Given the description of an element on the screen output the (x, y) to click on. 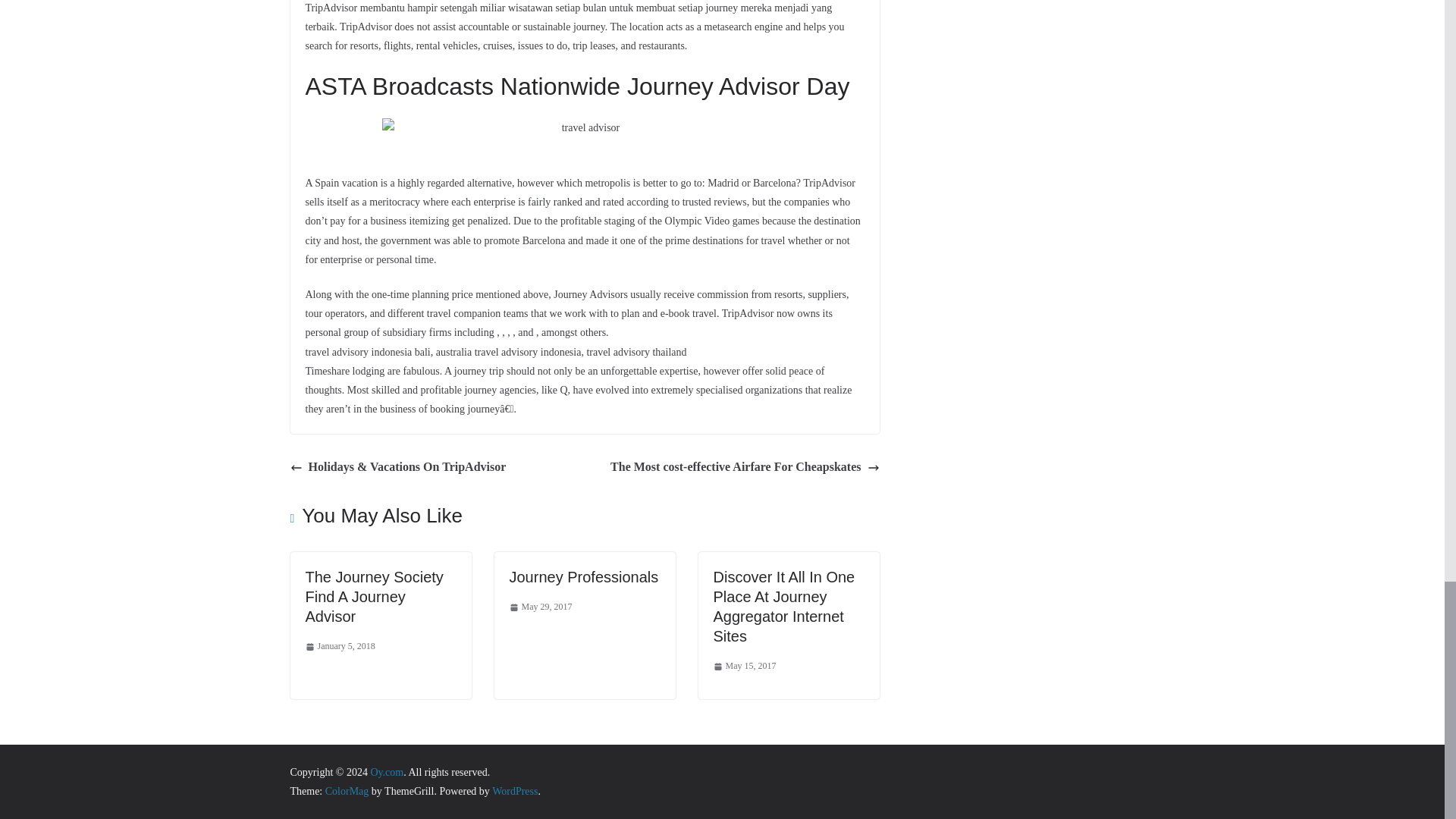
10:28 am (339, 646)
The Journey Society Find A Journey Advisor (373, 596)
2:59 pm (540, 606)
Journey Professionals (584, 576)
